Given the description of an element on the screen output the (x, y) to click on. 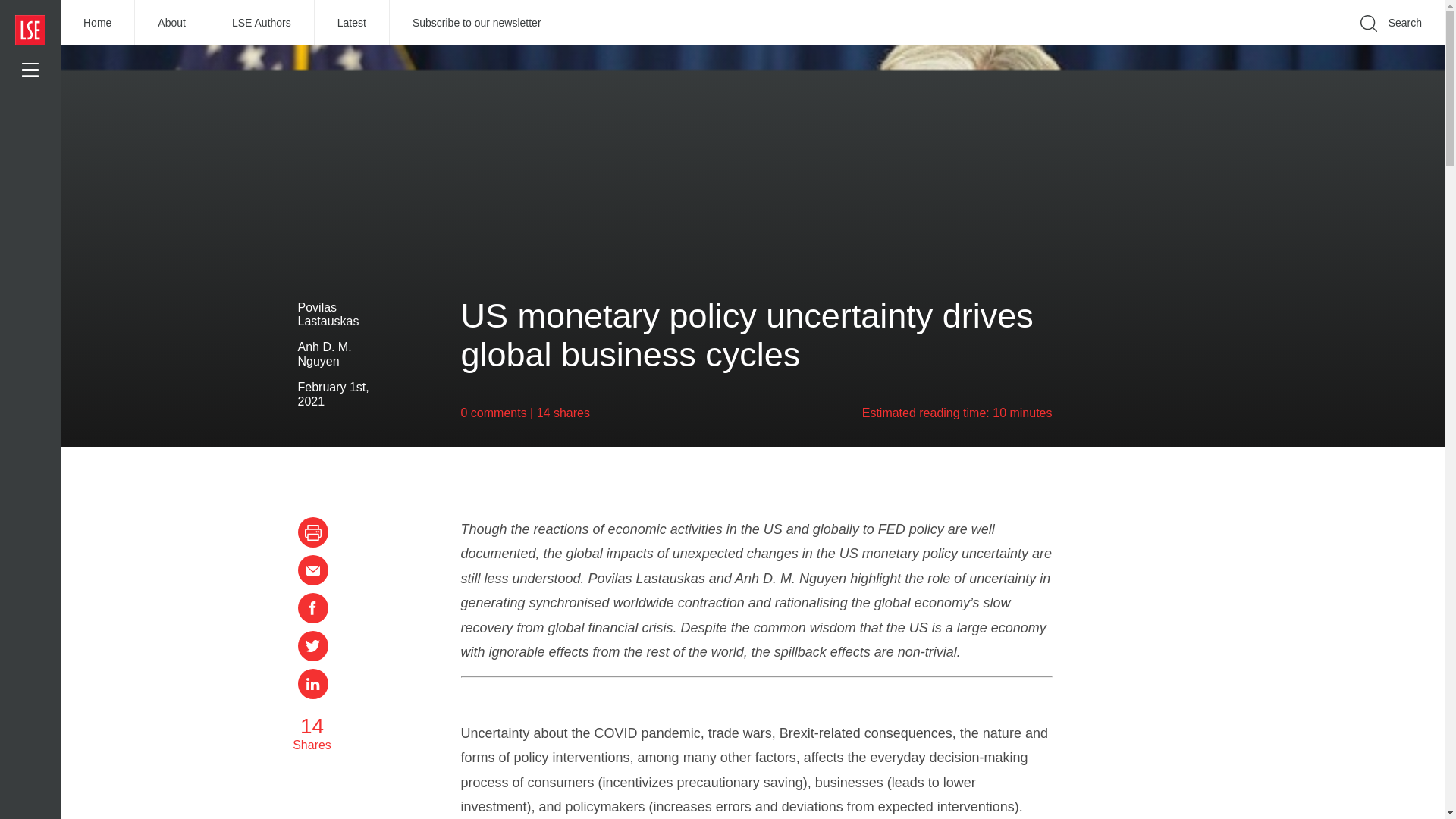
Home (98, 22)
Go (1190, 44)
Subscribe to our newsletter (477, 22)
LSE Authors (261, 22)
Latest (352, 22)
0 comments (494, 412)
About (172, 22)
